Given the description of an element on the screen output the (x, y) to click on. 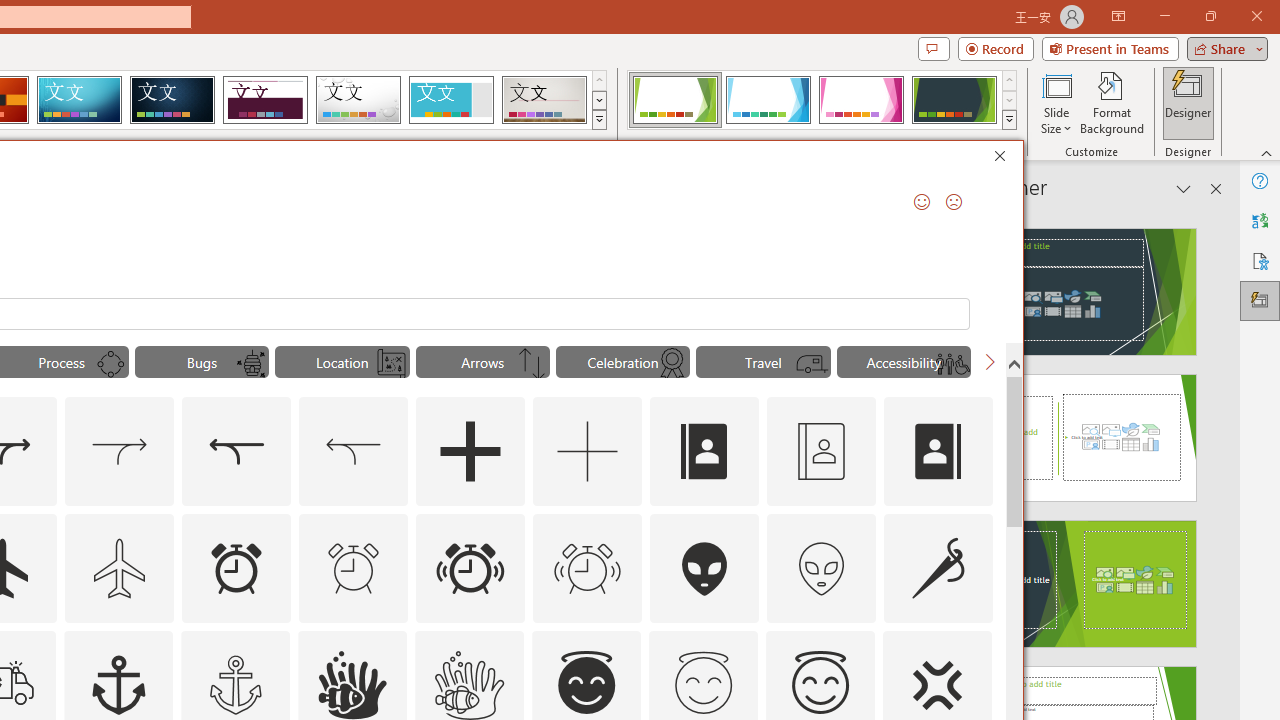
AutomationID: Icons_Airplane_M (120, 568)
AutomationID: Icons_CirclesWithLines_M (111, 364)
AutomationID: Icons_AlienFace (705, 568)
"Celebration" Icons. (622, 362)
Thumbnail (977, 645)
AutomationID: Icons_AlarmRinging (470, 568)
Next Search Suggestion (990, 362)
AutomationID: Icons_AlarmRinging_M (587, 568)
